Given the description of an element on the screen output the (x, y) to click on. 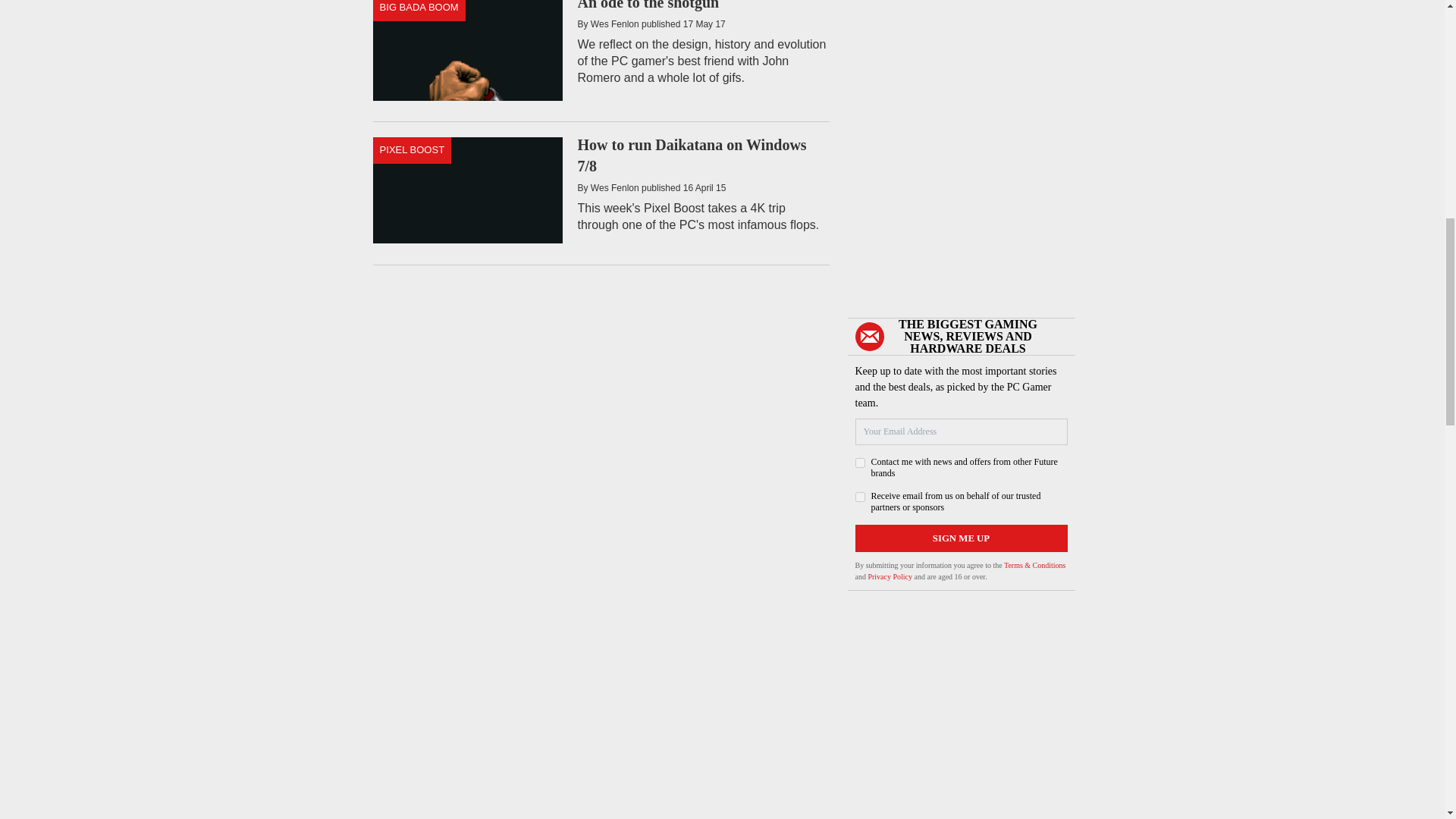
on (860, 497)
Sign me up (961, 538)
on (860, 462)
